Given the description of an element on the screen output the (x, y) to click on. 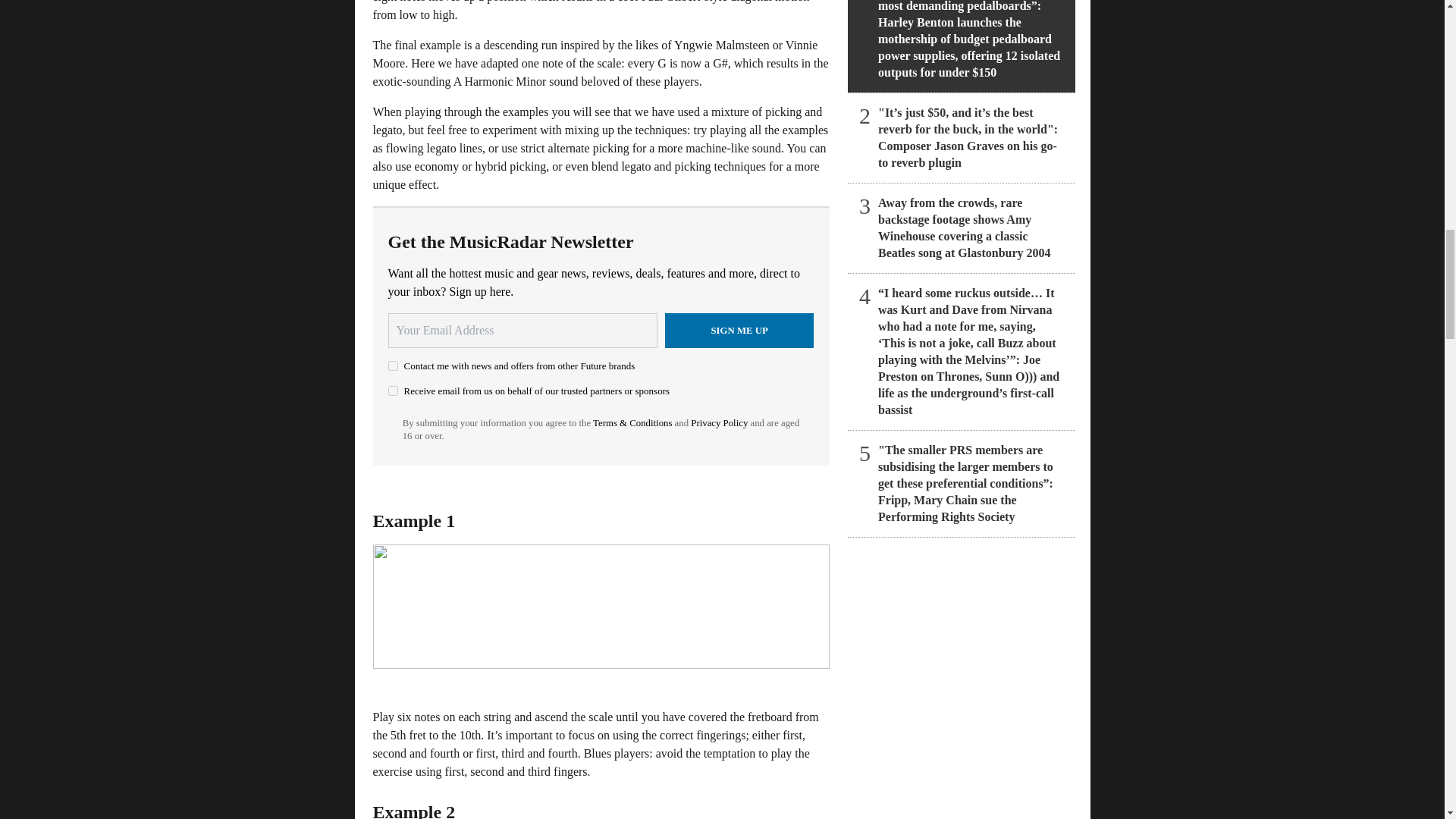
on (392, 366)
Sign me up (739, 330)
on (392, 390)
